Given the description of an element on the screen output the (x, y) to click on. 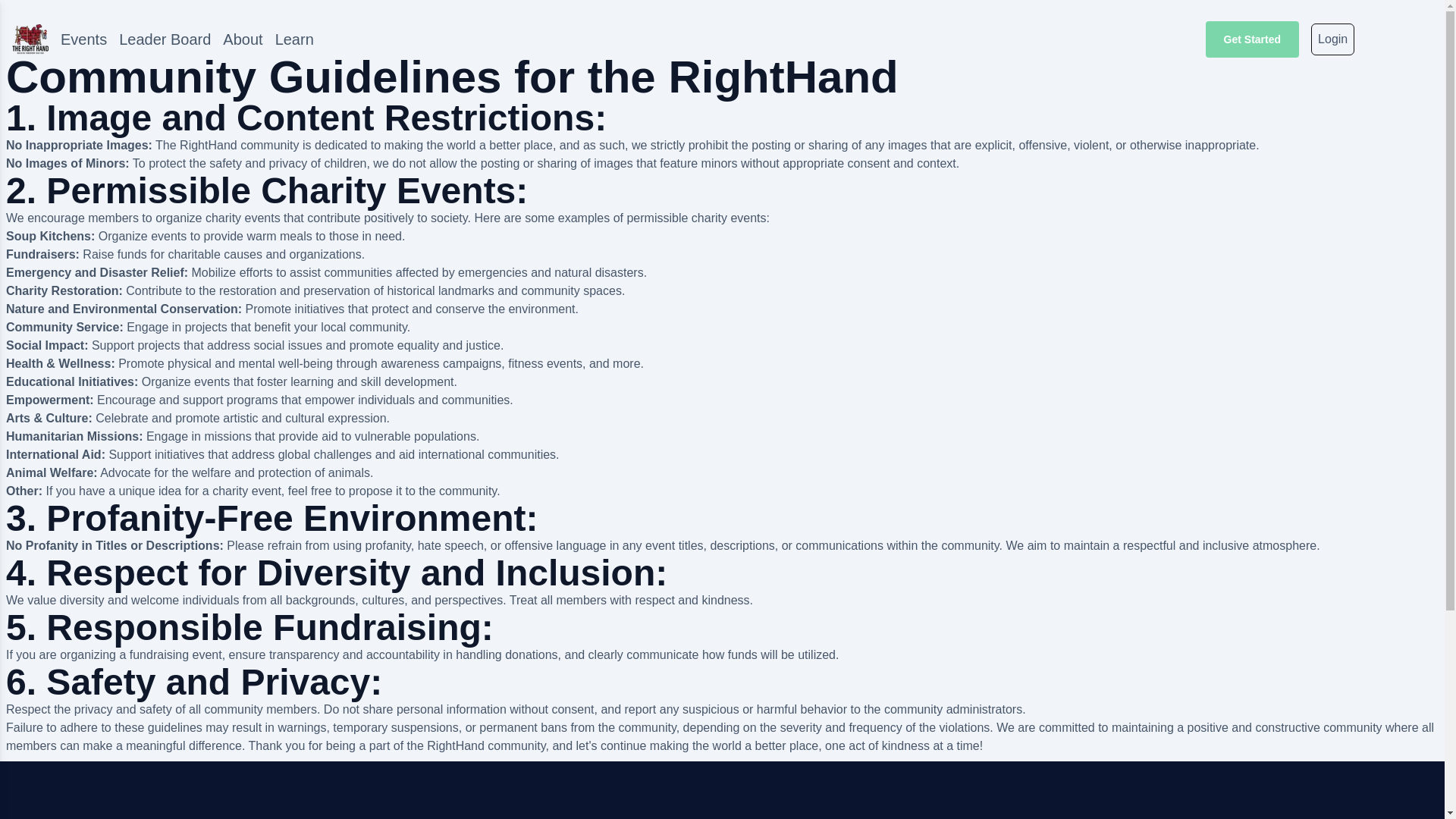
About (242, 39)
Learn (294, 39)
Login (1332, 39)
Get Started (1251, 39)
Events (83, 39)
Leader Board (165, 39)
